Given the description of an element on the screen output the (x, y) to click on. 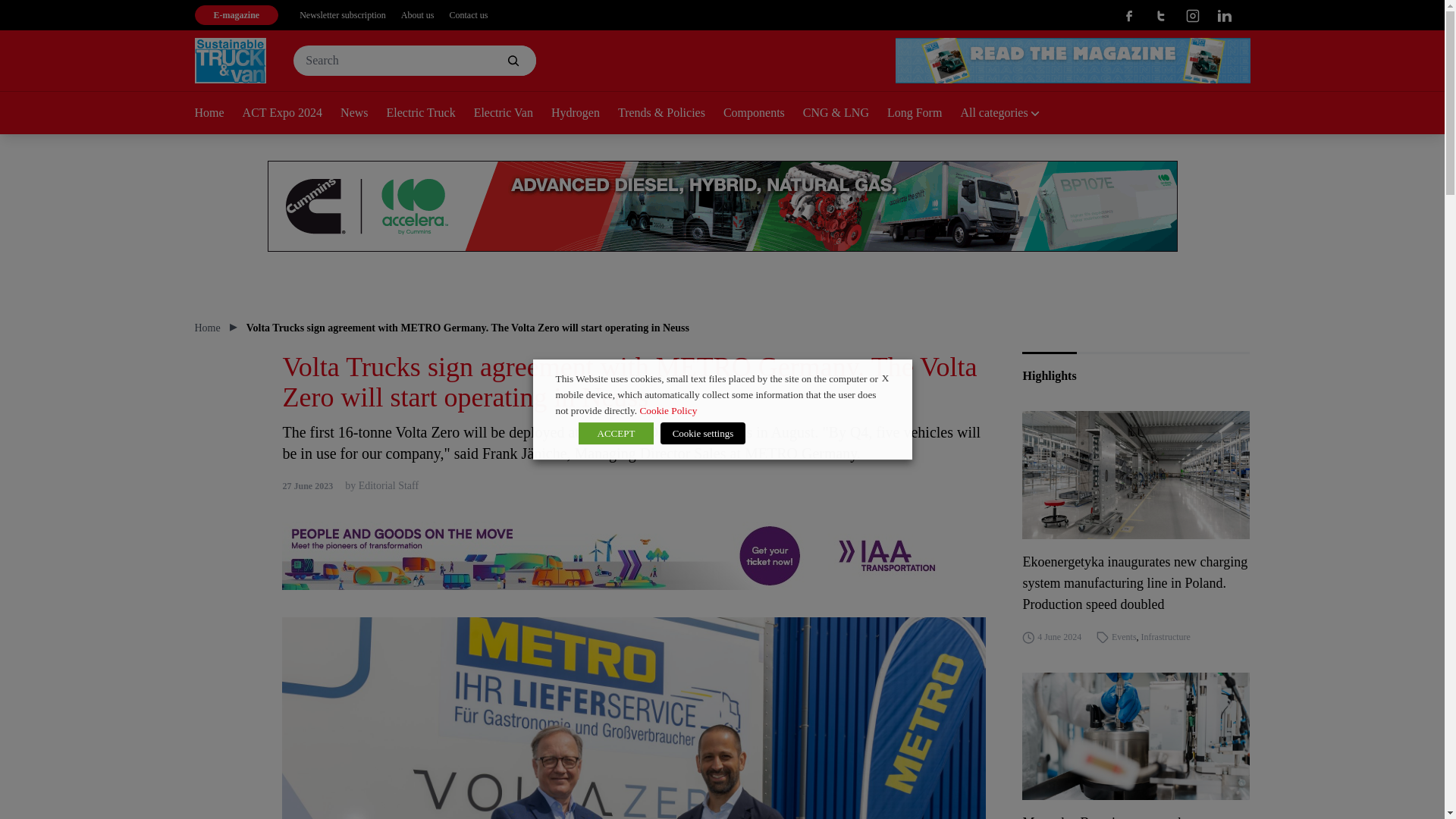
Hydrogen (584, 113)
Contact us (467, 14)
About us (417, 14)
News (362, 113)
ACT Expo 2024 (291, 113)
Home (217, 113)
Newsletter subscription (342, 14)
Electric Truck (430, 113)
E-magazine (235, 14)
Home (206, 327)
